Given the description of an element on the screen output the (x, y) to click on. 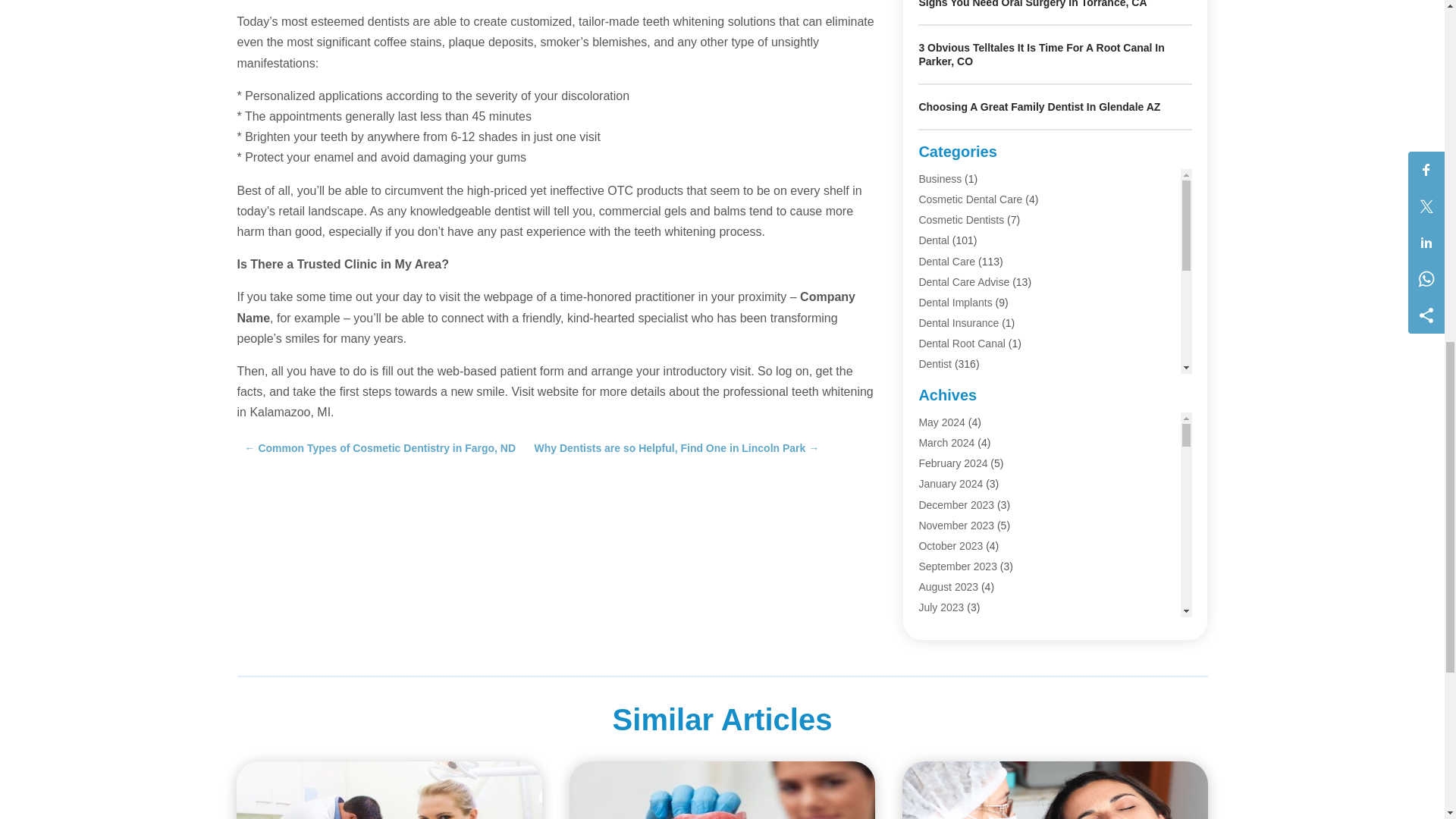
Dental Root Canal (961, 343)
Oral Surgeon (949, 446)
Dental (933, 240)
Choosing A Great Family Dentist In Glendale AZ (1039, 106)
Dental Care (946, 261)
Dental Care Advise (963, 282)
Dentist (935, 363)
Dental Insurance (958, 322)
Dentistry (938, 385)
Signs You Need Oral Surgery In Torrance, CA (1032, 4)
Dental Implants (954, 302)
Cosmetic Dental Care (970, 199)
Cosmetic Dentists (961, 219)
Business (939, 178)
